Given the description of an element on the screen output the (x, y) to click on. 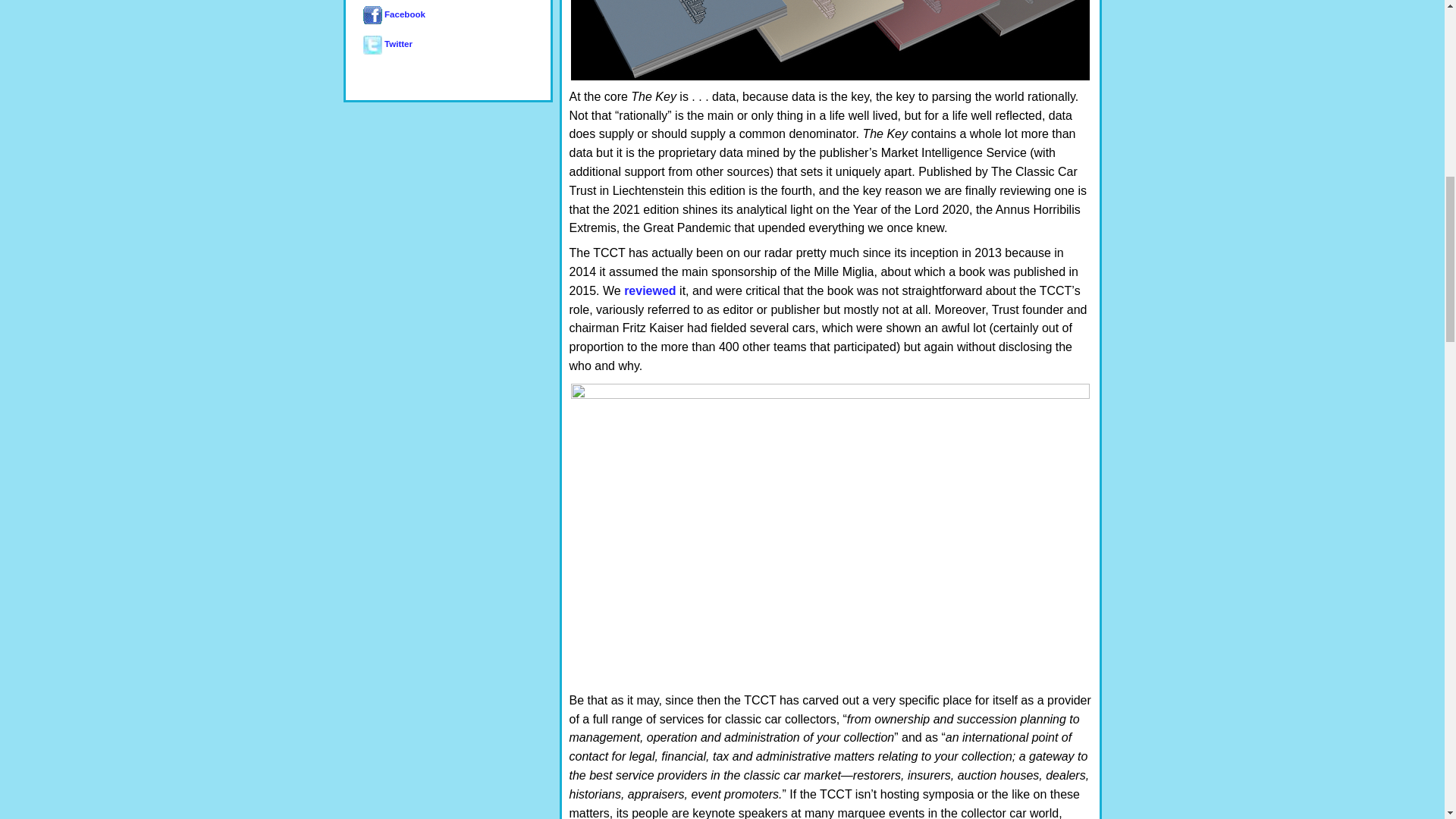
reviewed (649, 290)
